Given the description of an element on the screen output the (x, y) to click on. 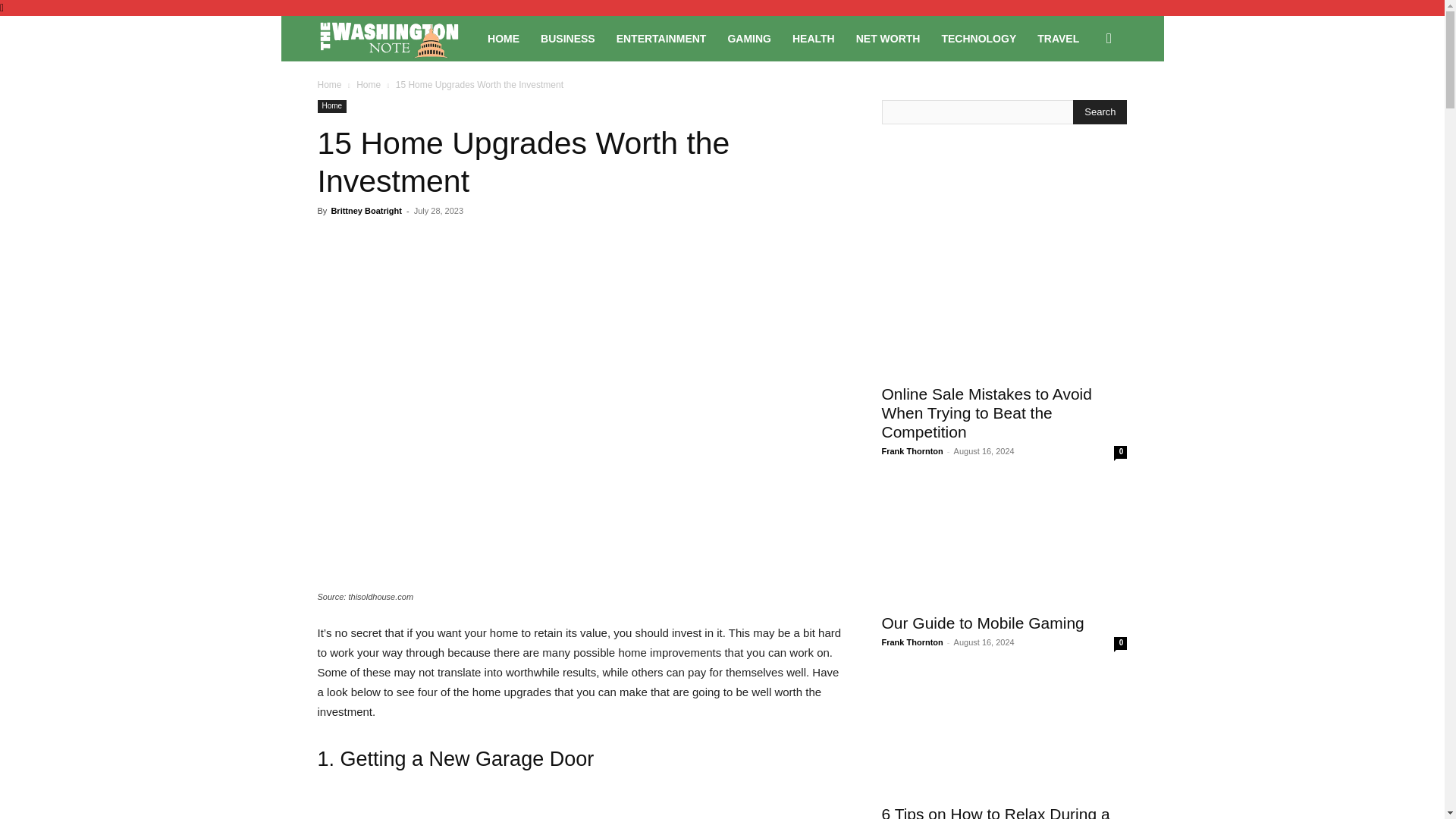
ENTERTAINMENT (661, 38)
Home (331, 106)
Home (328, 84)
HOME (503, 38)
Search (1099, 111)
GAMING (748, 38)
BUSINESS (567, 38)
Home (368, 84)
Search (1085, 103)
